Given the description of an element on the screen output the (x, y) to click on. 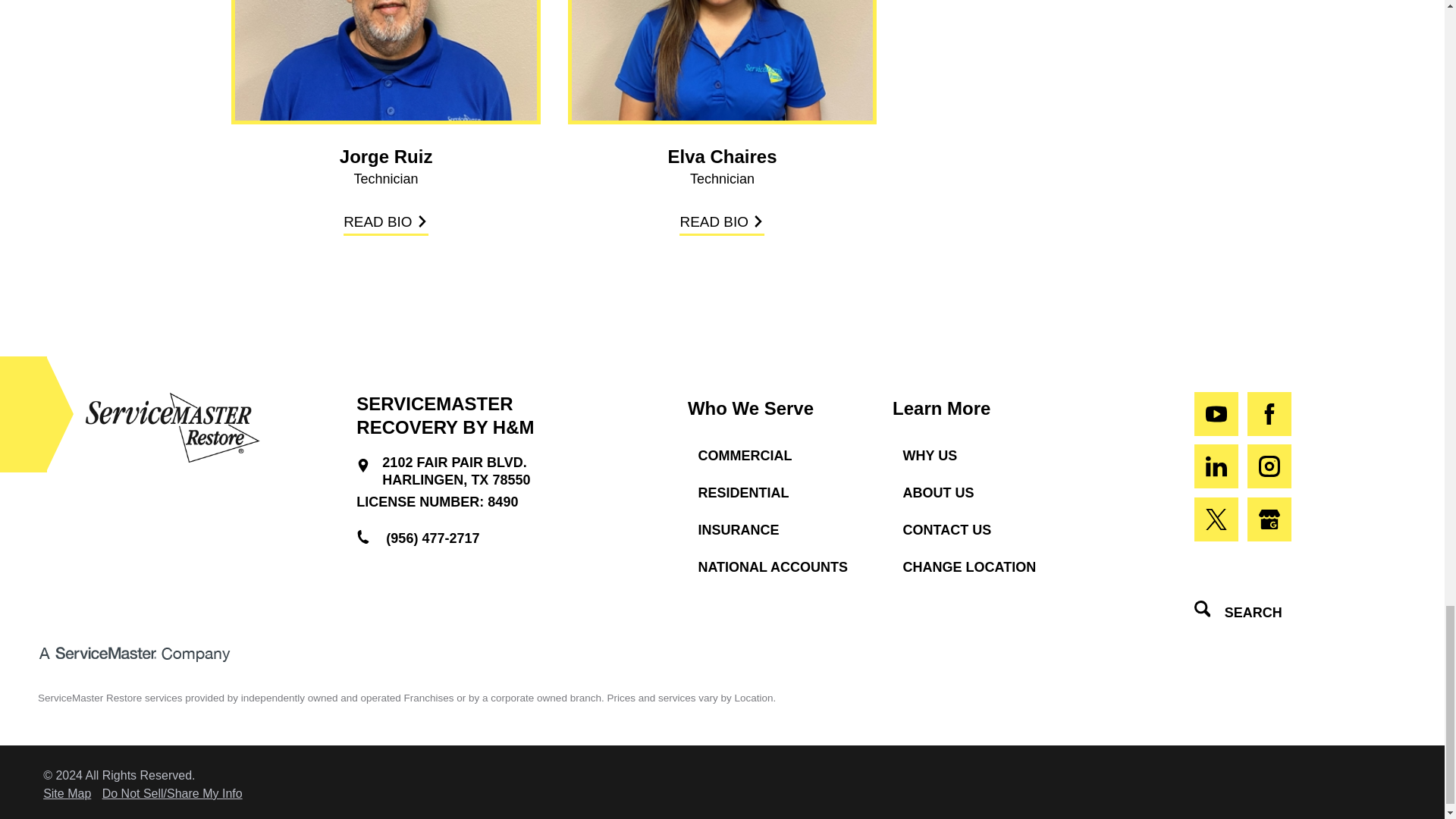
Google My Business (1269, 519)
Instagram (1269, 466)
Twitter (1216, 519)
Youtube (1216, 413)
Linkedin (1216, 466)
Facebook (1269, 413)
A Service Master Company Logo (133, 654)
